Given the description of an element on the screen output the (x, y) to click on. 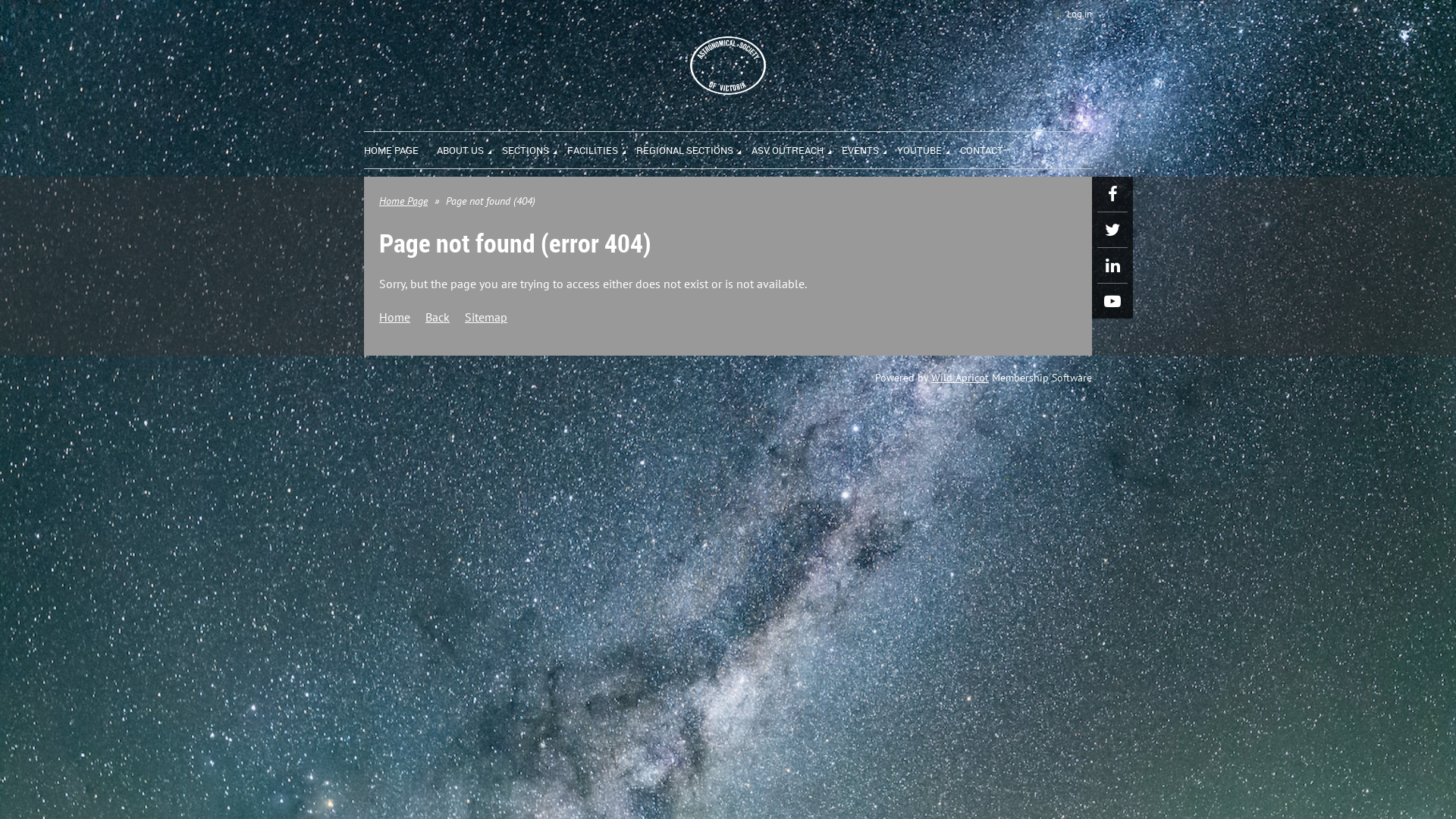
Twitter Element type: hover (1112, 229)
Home Element type: text (394, 316)
Back Element type: text (437, 316)
YOUTUBE Element type: text (928, 147)
Wild Apricot Element type: text (959, 377)
REGIONAL SECTIONS Element type: text (693, 147)
CONTACT Element type: text (981, 147)
FACILITIES Element type: text (601, 147)
Home Page Element type: text (403, 200)
Sitemap Element type: text (485, 316)
ABOUT US Element type: text (469, 147)
EVENTS Element type: text (869, 147)
Facebook Element type: hover (1112, 193)
Log in Element type: text (1071, 13)
ASV OUTREACH Element type: text (796, 147)
SECTIONS Element type: text (534, 147)
YouTube Element type: hover (1112, 300)
HOME PAGE Element type: text (400, 147)
LinkedIn Element type: hover (1112, 264)
